Given the description of an element on the screen output the (x, y) to click on. 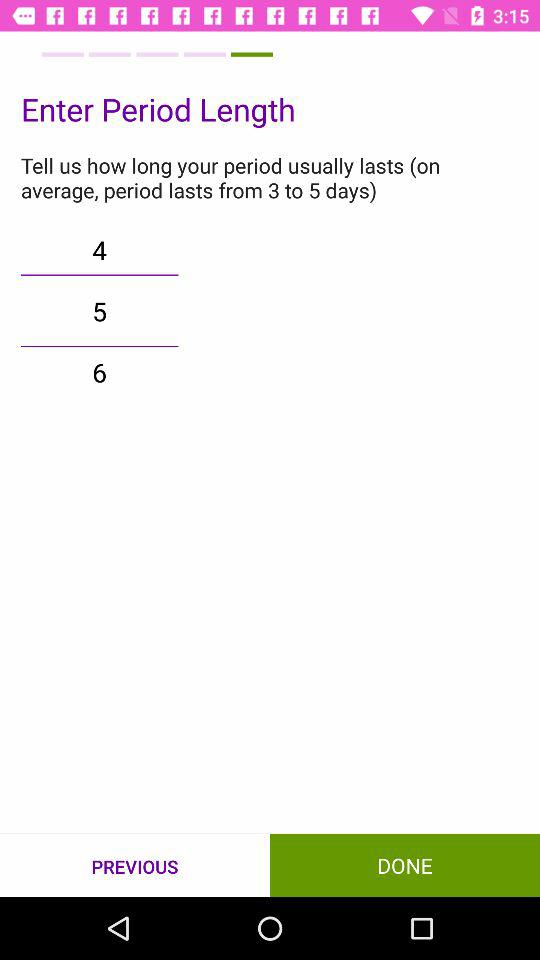
swipe to the previous item (135, 865)
